Given the description of an element on the screen output the (x, y) to click on. 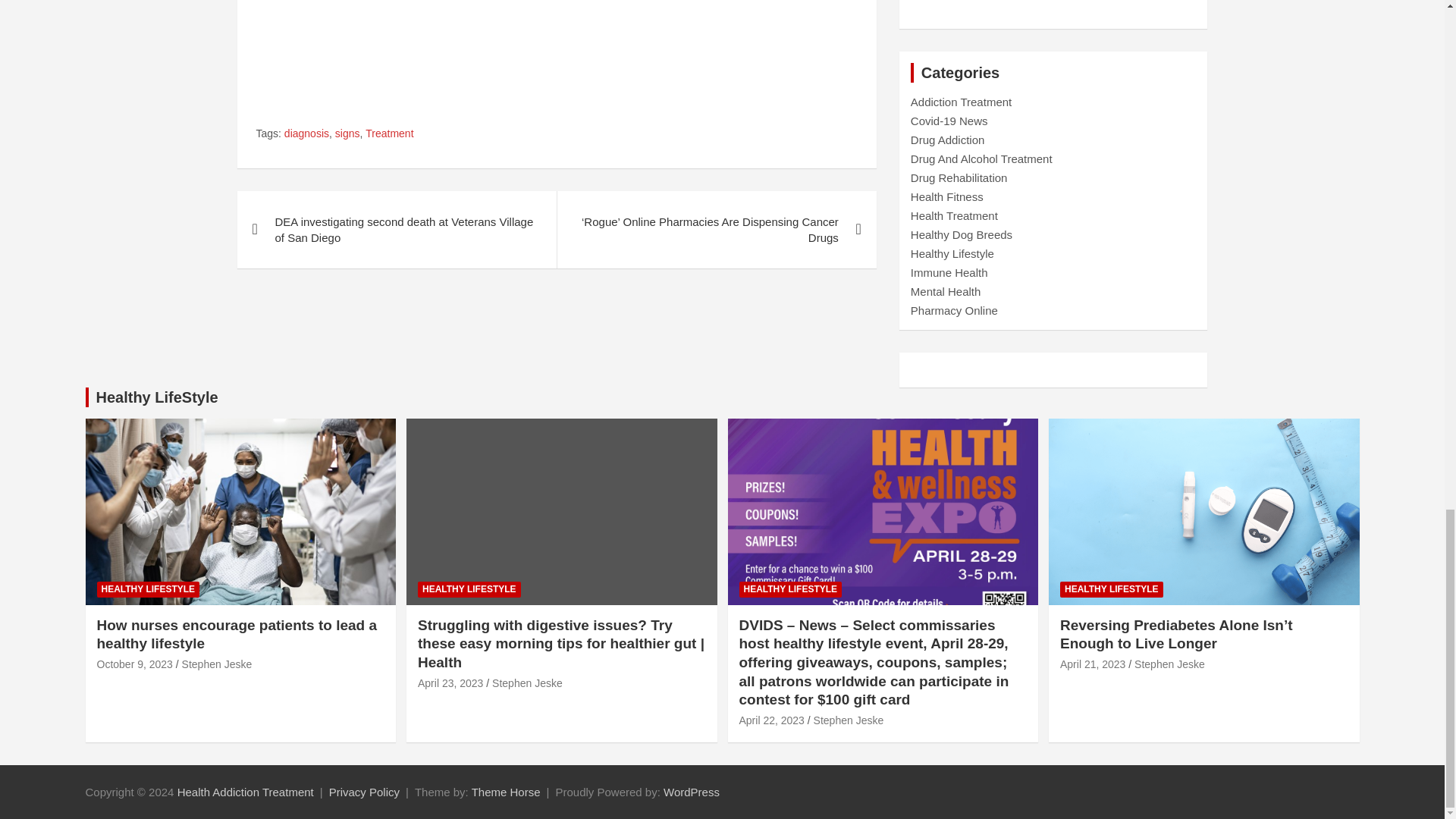
Treatment (389, 133)
diagnosis (306, 133)
WordPress (691, 791)
signs (346, 133)
Theme Horse (505, 791)
Health Addiction Treatment (245, 791)
How nurses encourage patients to lead a healthy lifestyle (135, 664)
